Given the description of an element on the screen output the (x, y) to click on. 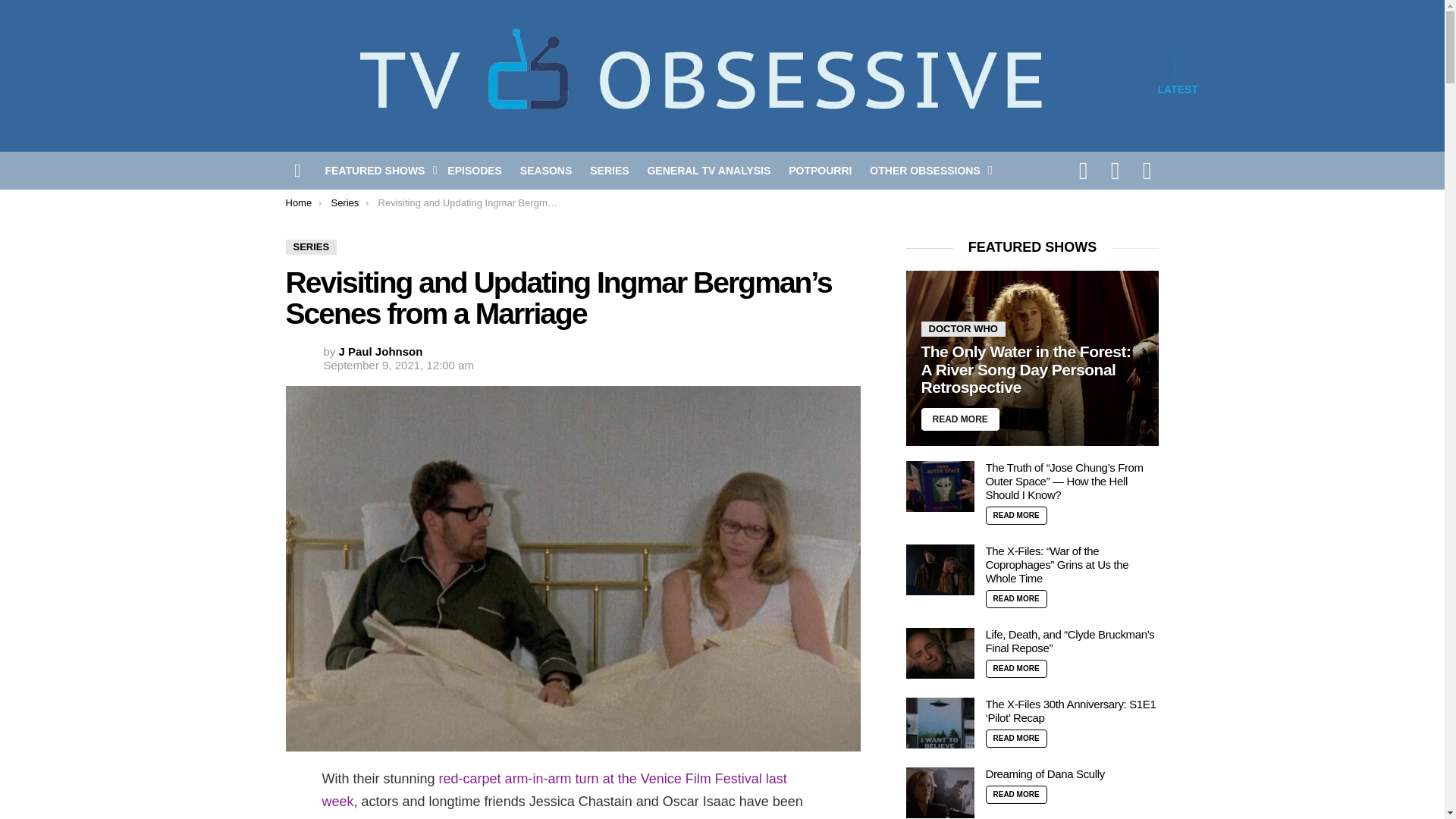
Series (344, 202)
SEASONS (545, 169)
SERIES (310, 246)
FEATURED SHOWS (376, 169)
Menu (296, 170)
GENERAL TV ANALYSIS (708, 169)
EPISODES (474, 169)
LATEST (1177, 75)
Posts by J Paul Johnson (381, 350)
OTHER OBSESSIONS (926, 169)
SERIES (609, 169)
POTPOURRI (819, 169)
Home (298, 202)
